Given the description of an element on the screen output the (x, y) to click on. 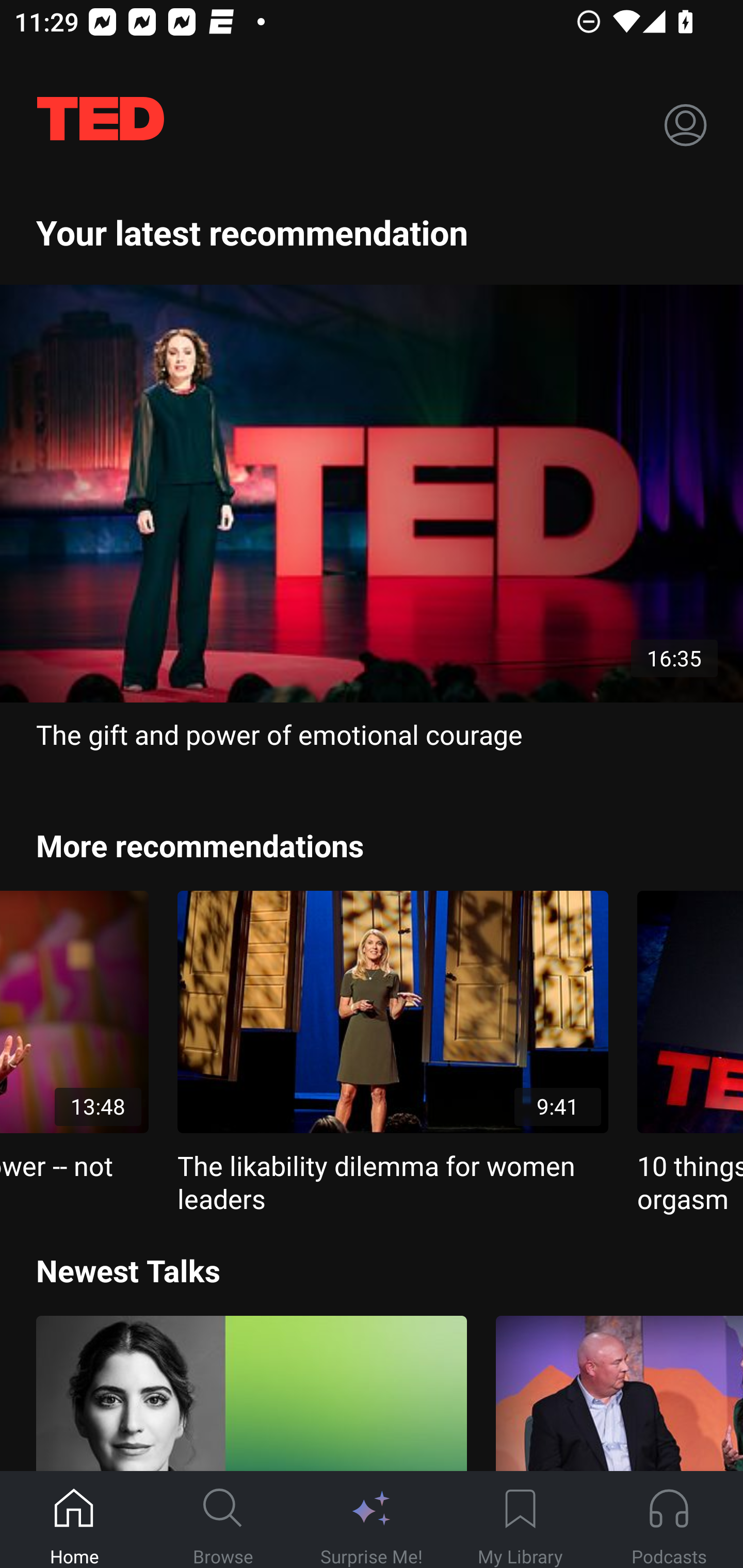
9:41 The likability dilemma for women leaders (392, 1053)
Home (74, 1520)
Browse (222, 1520)
Surprise Me! (371, 1520)
My Library (519, 1520)
Podcasts (668, 1520)
